Given the description of an element on the screen output the (x, y) to click on. 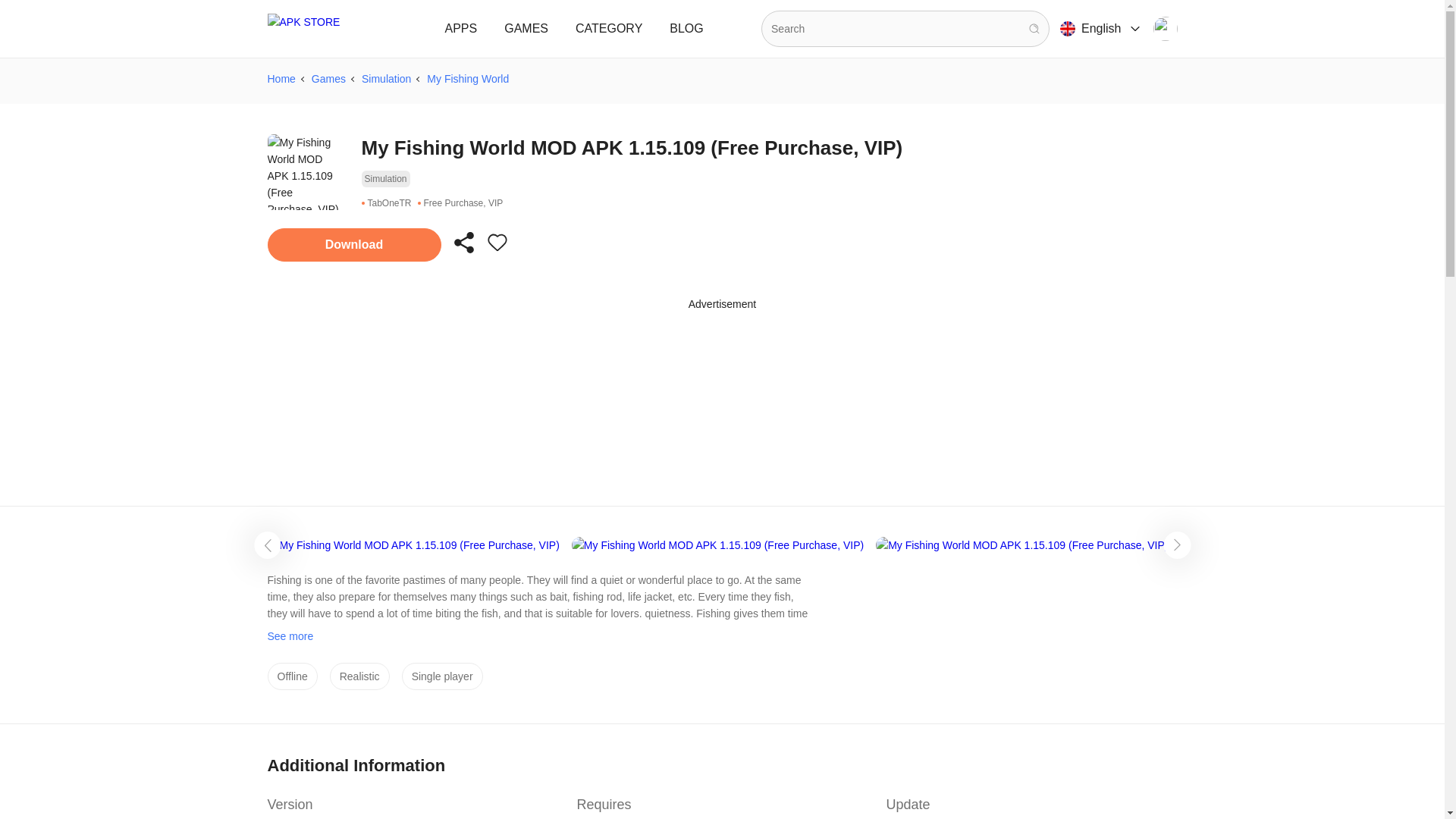
Offline (291, 676)
Simulation (385, 78)
APPS (460, 28)
Games (328, 78)
BLOG (686, 28)
Single player (442, 676)
Realistic (360, 676)
CATEGORY (608, 28)
Download (353, 244)
Home (280, 78)
Simulation (385, 178)
My Fishing World (467, 78)
GAMES (526, 28)
